Given the description of an element on the screen output the (x, y) to click on. 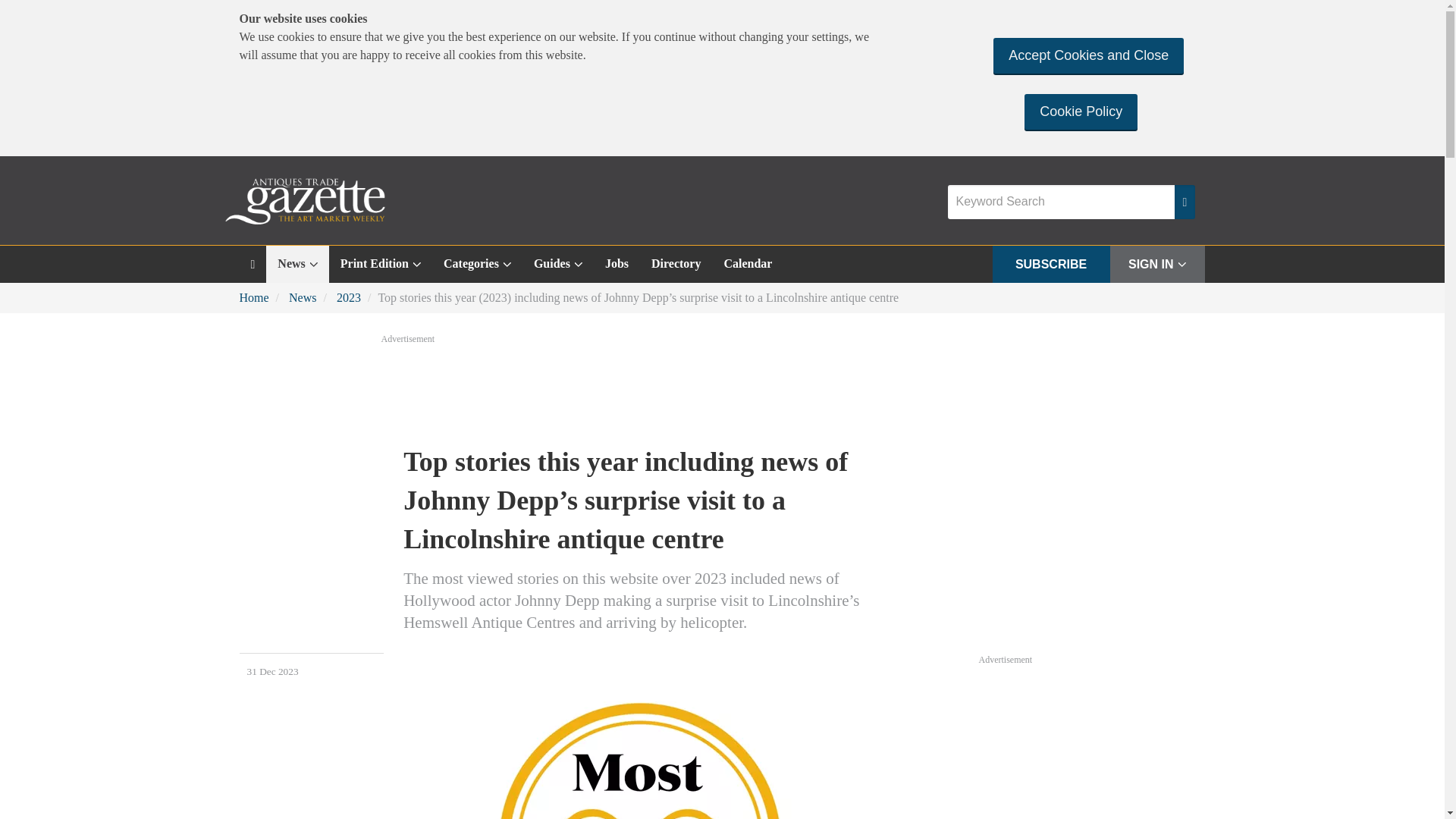
home (253, 263)
3rd party ad content (1091, 742)
Keyword Search (1060, 202)
Cookie Policy (1081, 111)
Most Read.jpg (639, 735)
3rd party ad content (721, 387)
Search (1184, 202)
News (297, 263)
